Given the description of an element on the screen output the (x, y) to click on. 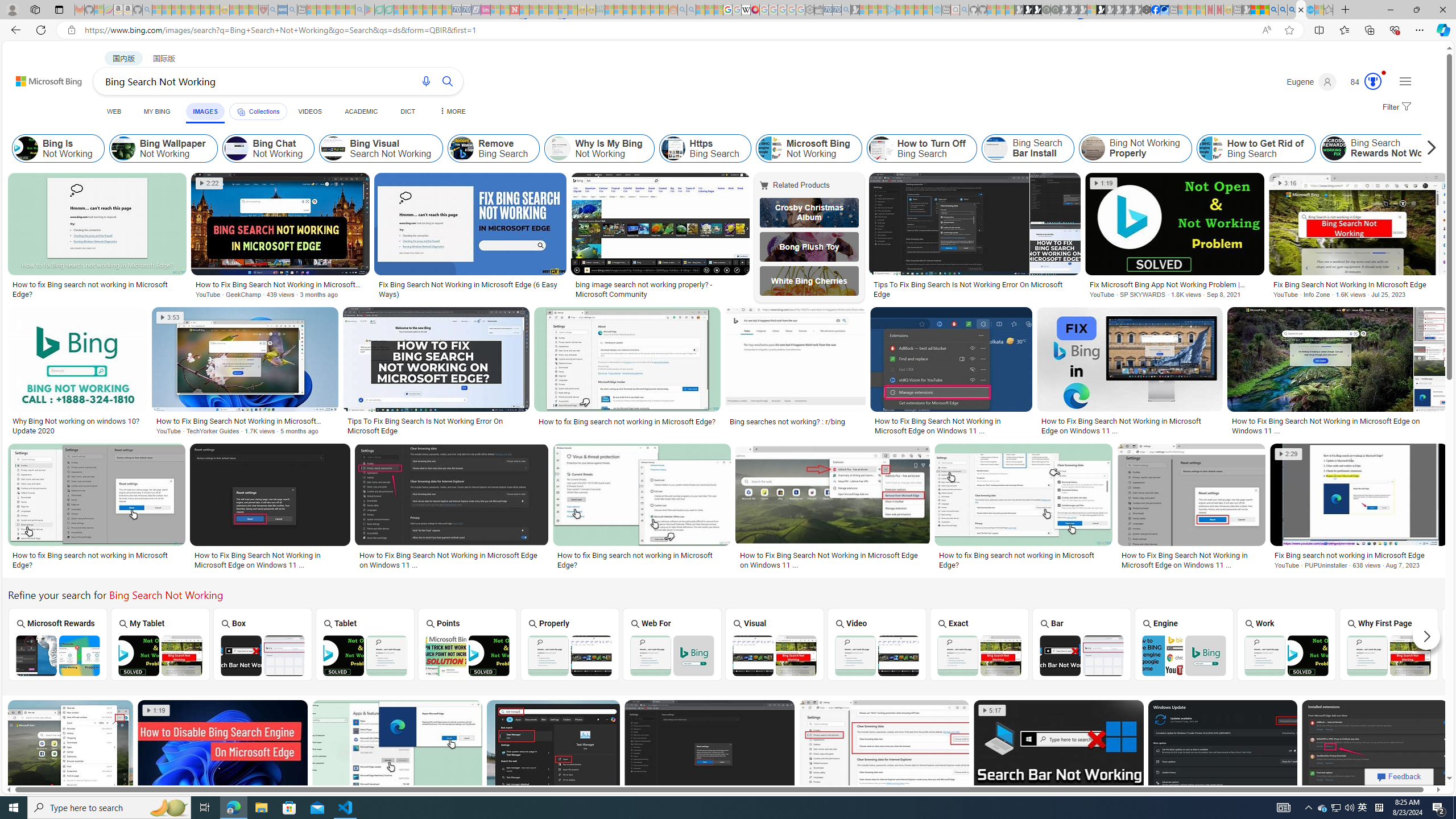
Bing Visual Search Not Working Visual (774, 643)
Bing Exact Search Not Working (978, 655)
Nordace | Facebook (1154, 9)
Microsoft Bing Not Working (769, 148)
Bing Tablet Search Not Working Tablet (364, 643)
